Given the description of an element on the screen output the (x, y) to click on. 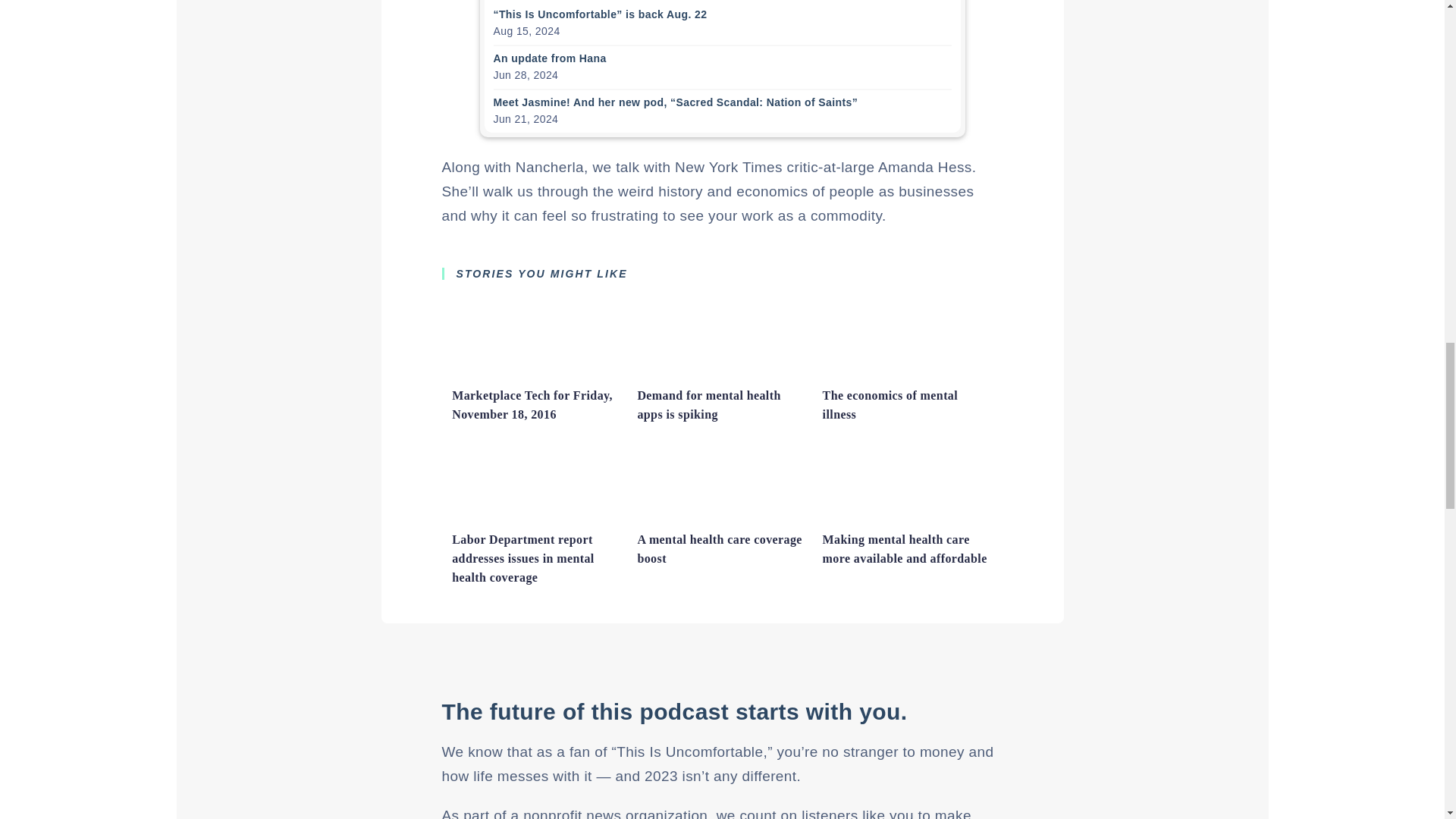
Demand for mental health apps is spiking (721, 373)
Marketplace Tech for Friday, November 18, 2016 (531, 404)
Marketplace Tech for Friday, November 18, 2016 (536, 373)
Demand for mental health apps is spiking (708, 404)
